Given the description of an element on the screen output the (x, y) to click on. 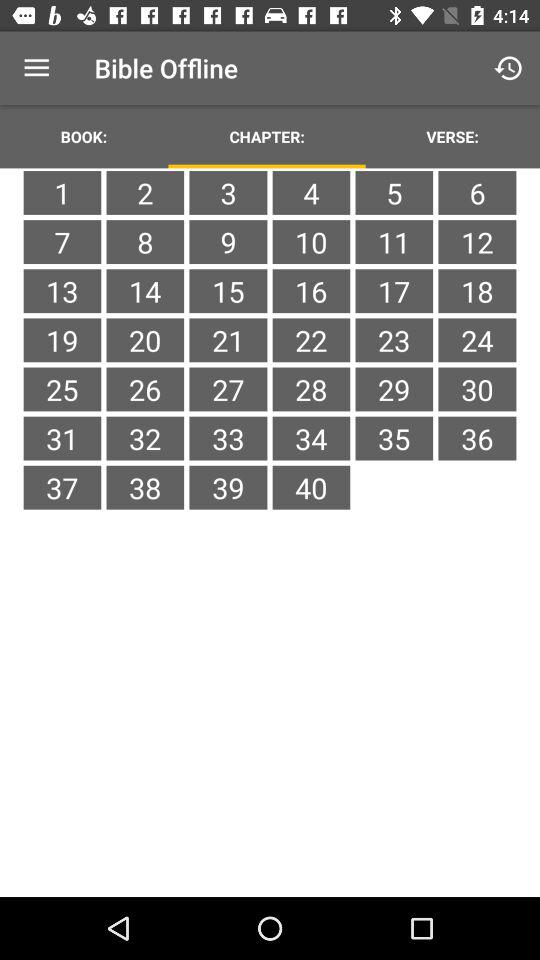
select item to the right of 8 item (228, 291)
